Given the description of an element on the screen output the (x, y) to click on. 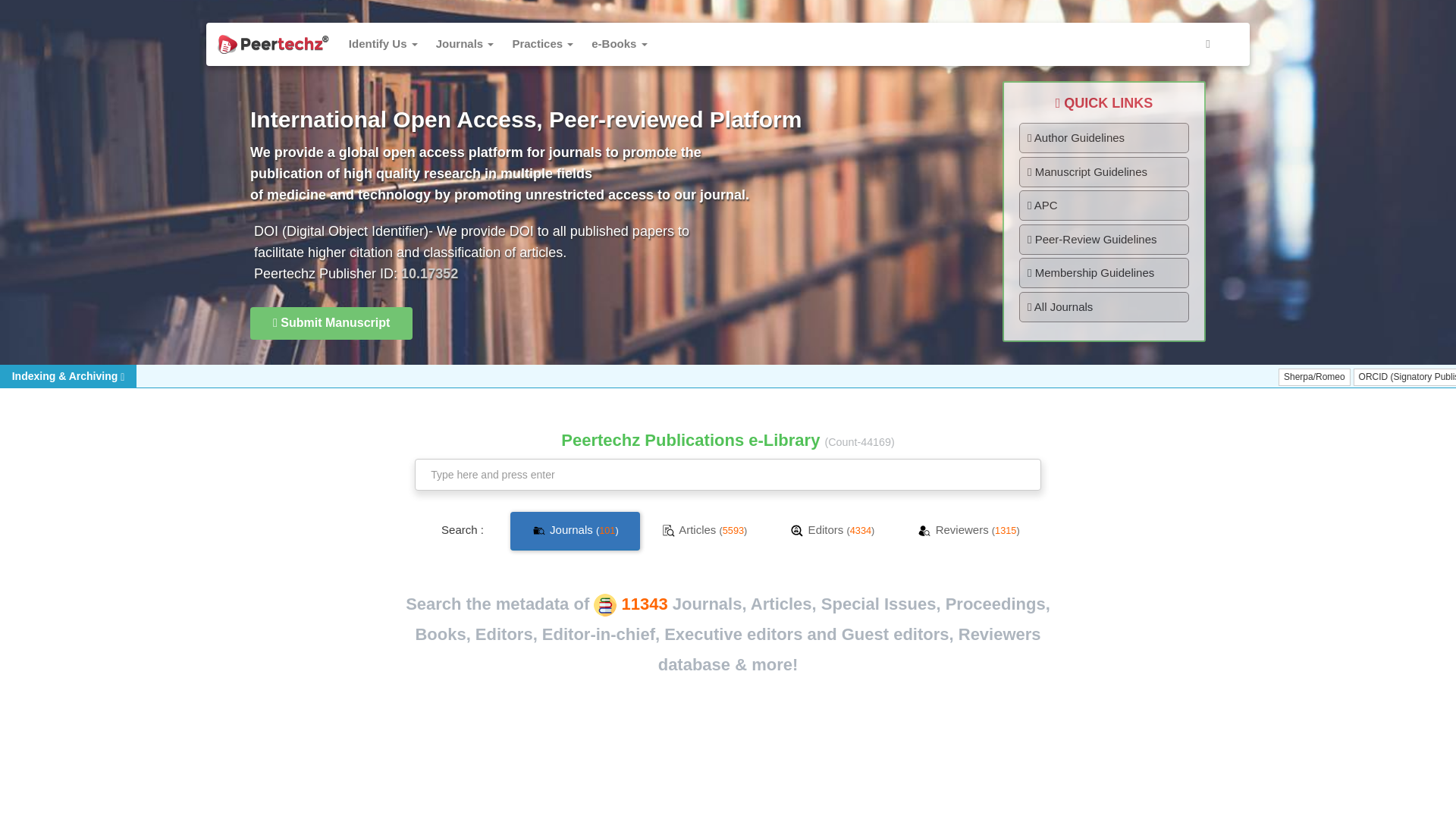
Practices (542, 43)
Identify Us (382, 43)
Journals (464, 43)
Peertechz Publications (272, 44)
e-Books (619, 43)
